Given the description of an element on the screen output the (x, y) to click on. 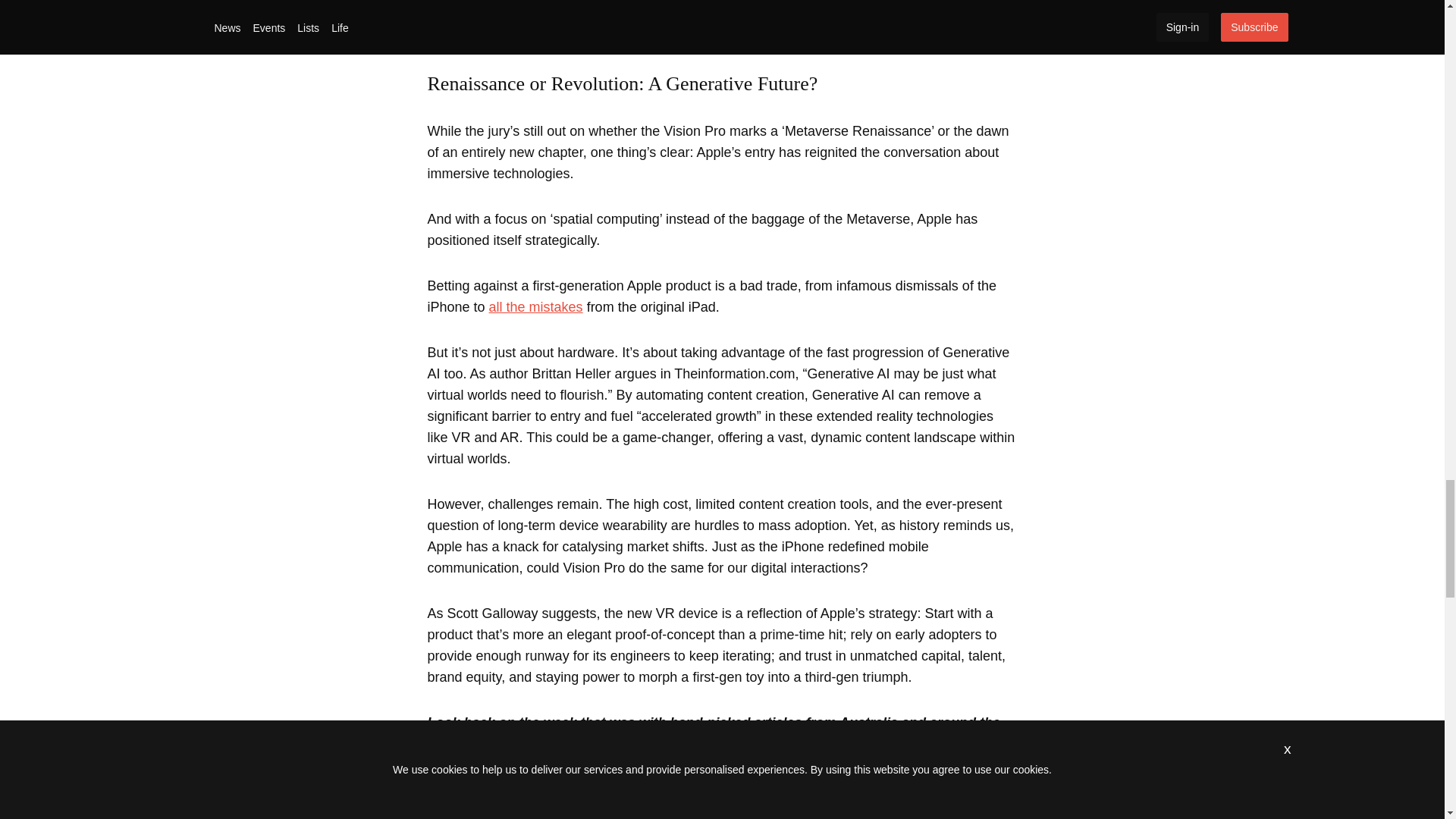
become a member here. (876, 743)
Sign up to the Forbes Australia newsletter here (624, 743)
all the mistakes (536, 306)
